Given the description of an element on the screen output the (x, y) to click on. 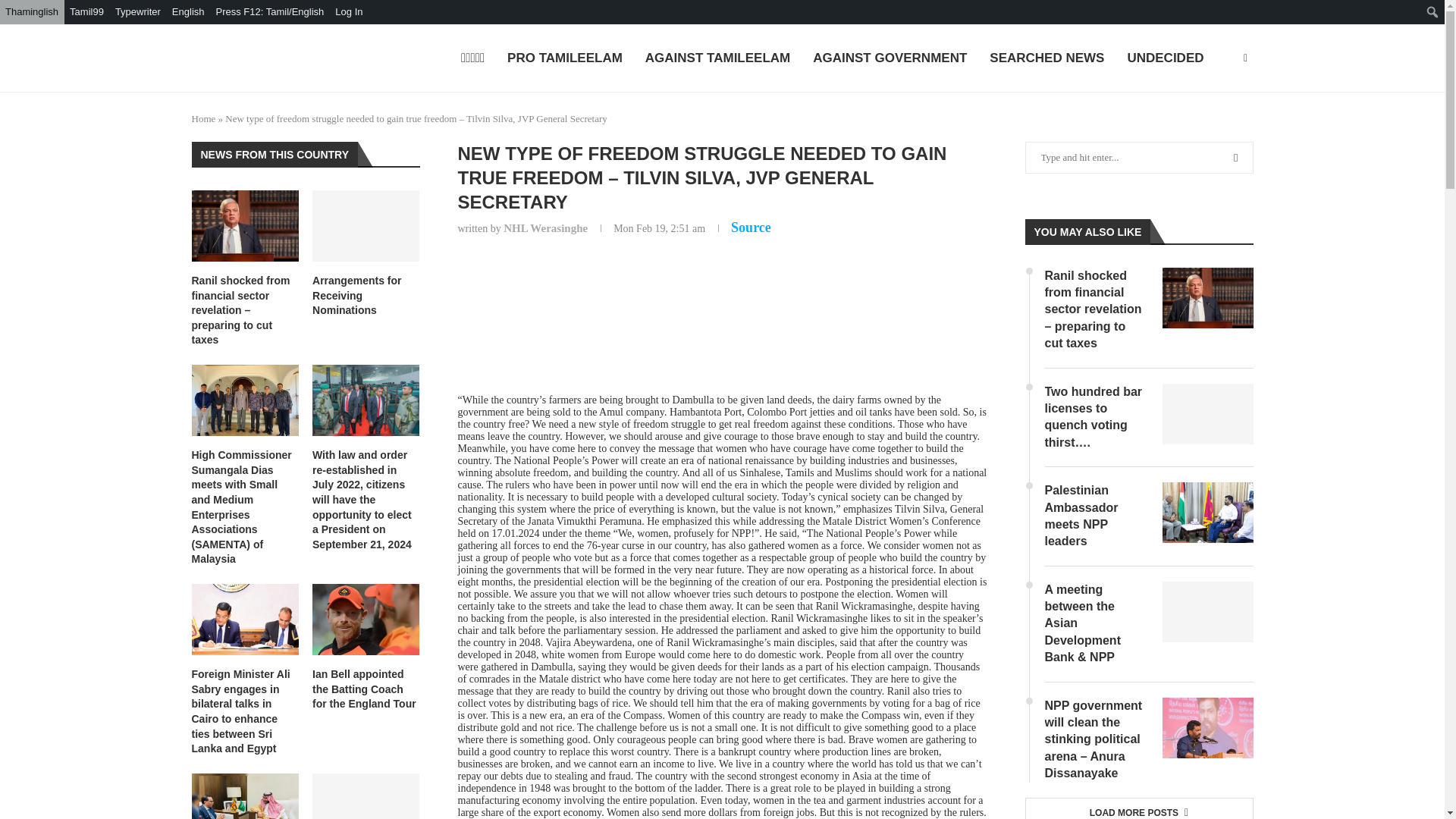
Thaminglish (32, 12)
AGAINST GOVERNMENT (889, 58)
Home (202, 118)
SEARCHED NEWS (1046, 58)
UNDECIDED (1165, 58)
AGAINST TAMILEELAM (717, 58)
Search (15, 12)
PRO TAMILEELAM (564, 58)
Click to select Baamini keyboard (138, 12)
NHL Werasinghe (545, 227)
